Given the description of an element on the screen output the (x, y) to click on. 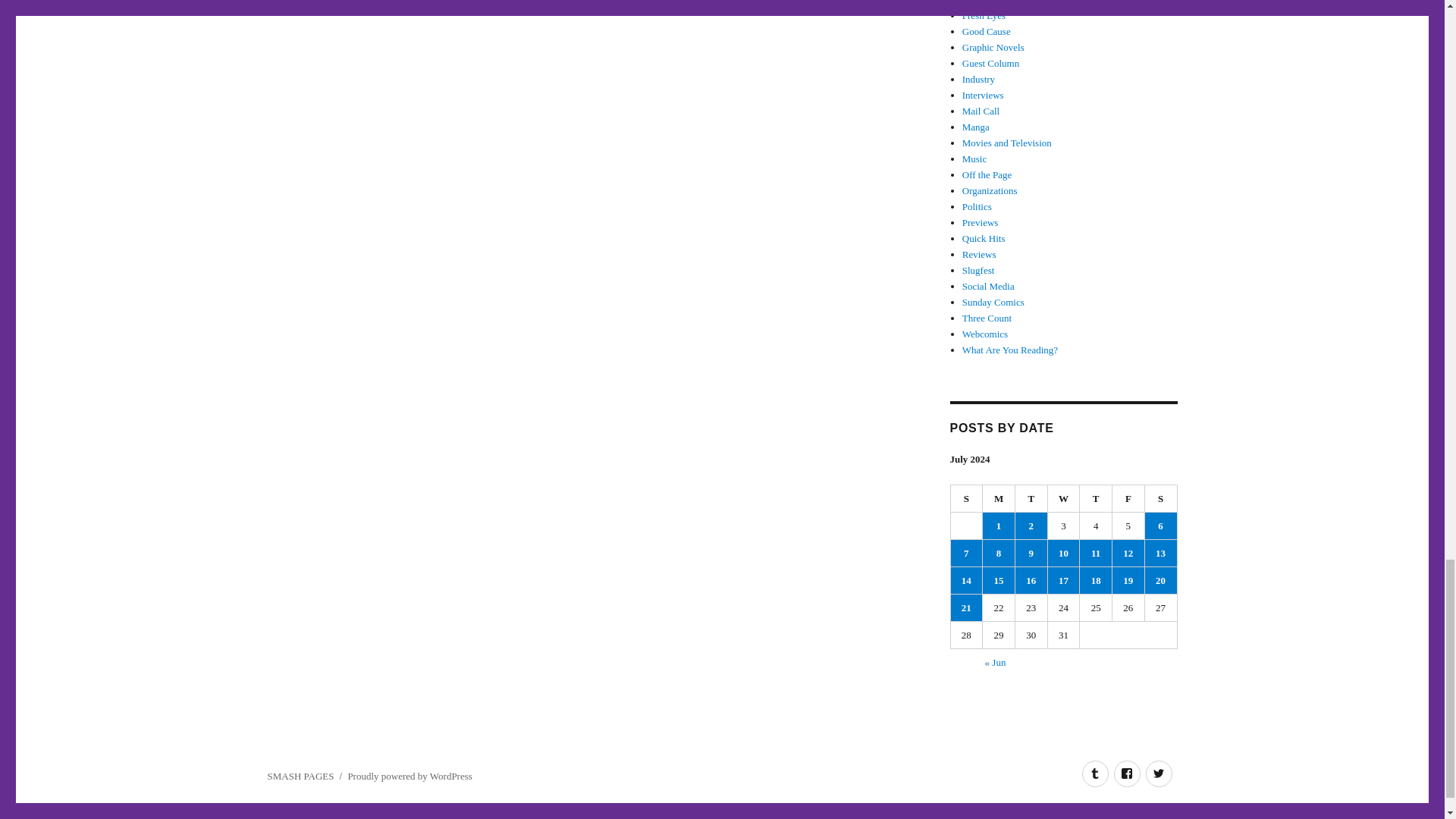
Wednesday (1064, 498)
Monday (998, 498)
Sunday (967, 498)
Thursday (1096, 498)
Tuesday (1031, 498)
Saturday (1160, 498)
Friday (1128, 498)
